Given the description of an element on the screen output the (x, y) to click on. 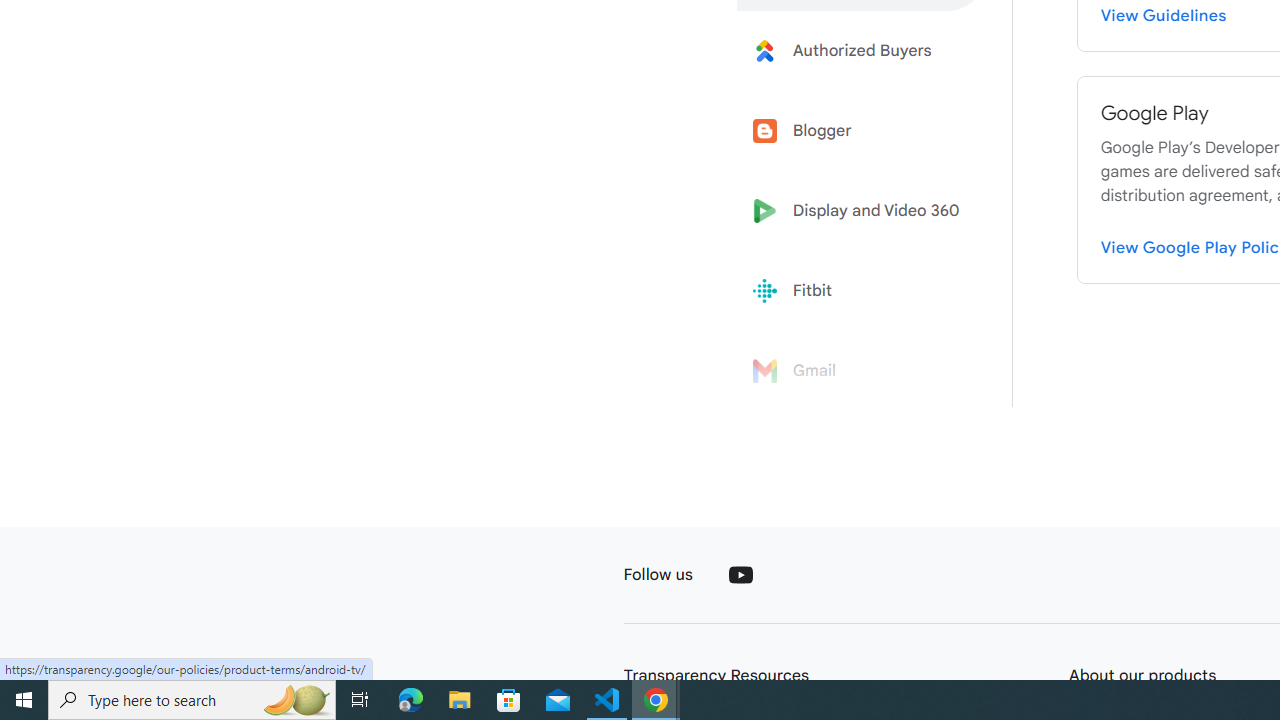
Gmail (862, 371)
Blogger (862, 130)
Fitbit (862, 291)
Blogger (862, 130)
YouTube (740, 574)
Learn more about Authorized Buyers (862, 50)
Gmail (862, 371)
Learn more about Authorized Buyers (862, 50)
Display and Video 360 (862, 211)
Fitbit (862, 291)
Display and Video 360 (862, 211)
